Given the description of an element on the screen output the (x, y) to click on. 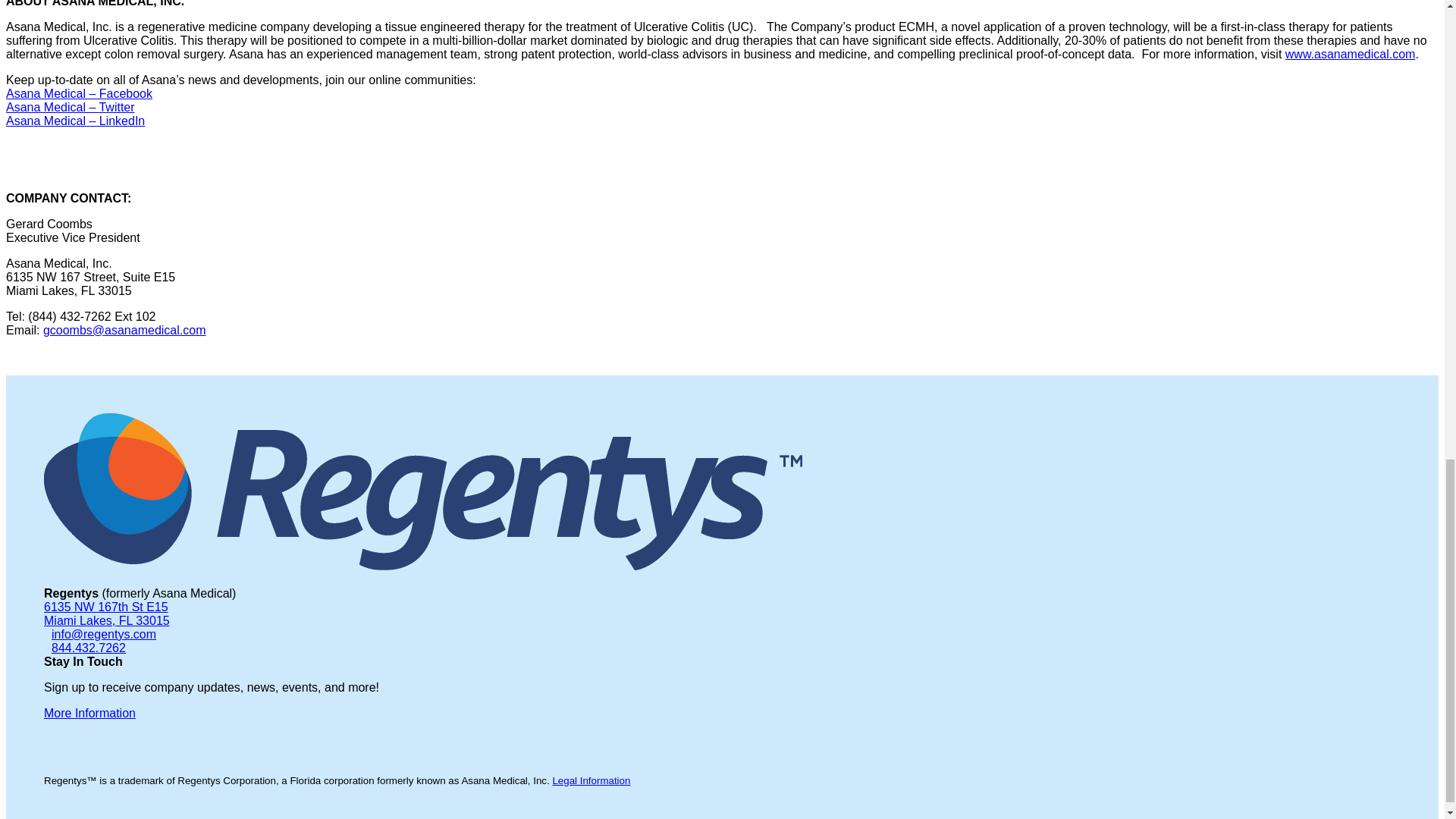
Legal Information (590, 780)
844.432.7262 (87, 647)
More Information (89, 712)
www.asanamedical.com (1350, 53)
